Given the description of an element on the screen output the (x, y) to click on. 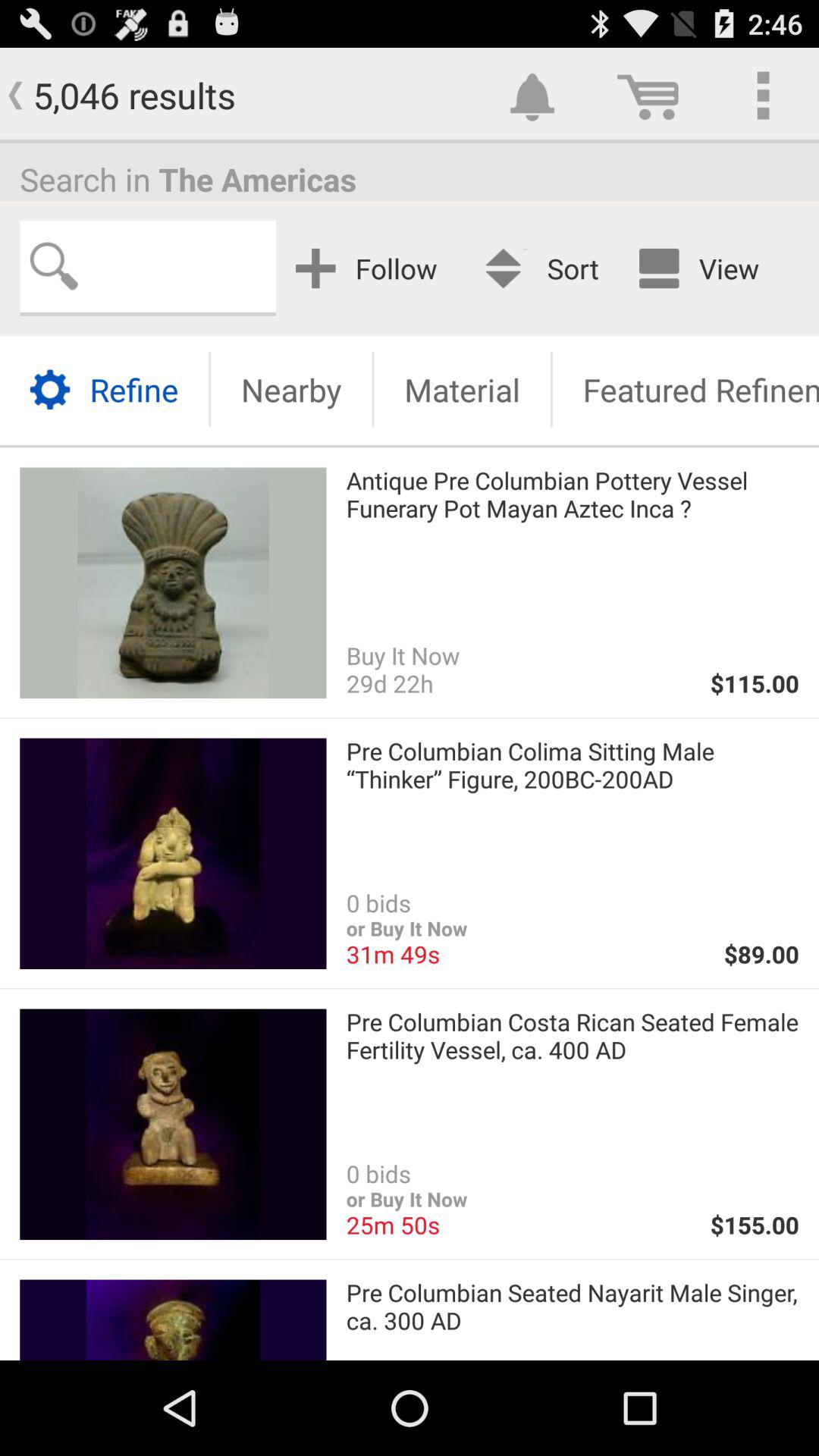
choose the refine item (104, 389)
